Given the description of an element on the screen output the (x, y) to click on. 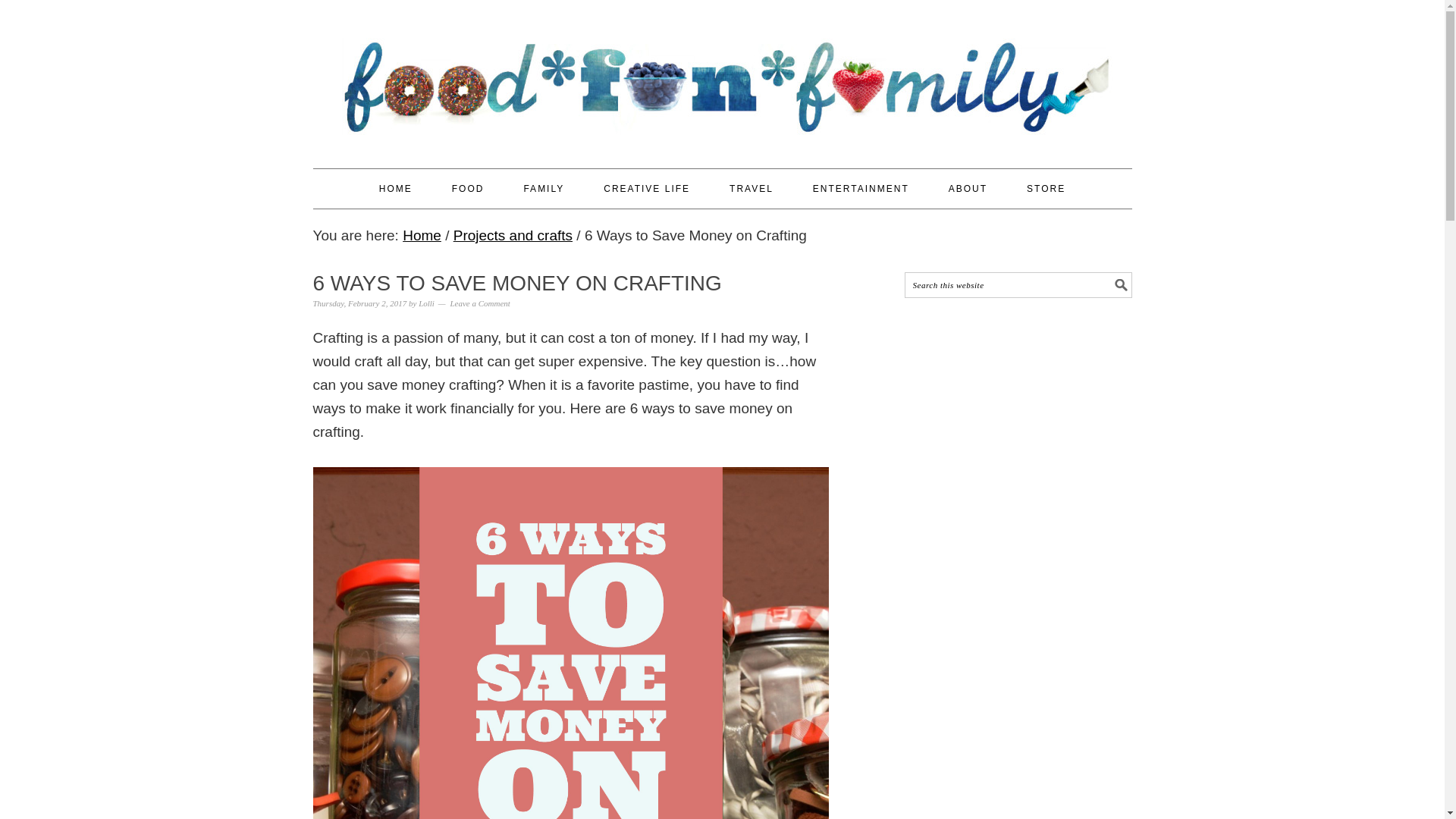
TRAVEL (751, 188)
Lolli (426, 302)
ENTERTAINMENT (860, 188)
FOOD (467, 188)
ABOUT (968, 188)
Home (422, 235)
HOME (394, 188)
Leave a Comment (479, 302)
STORE (1045, 188)
